Given the description of an element on the screen output the (x, y) to click on. 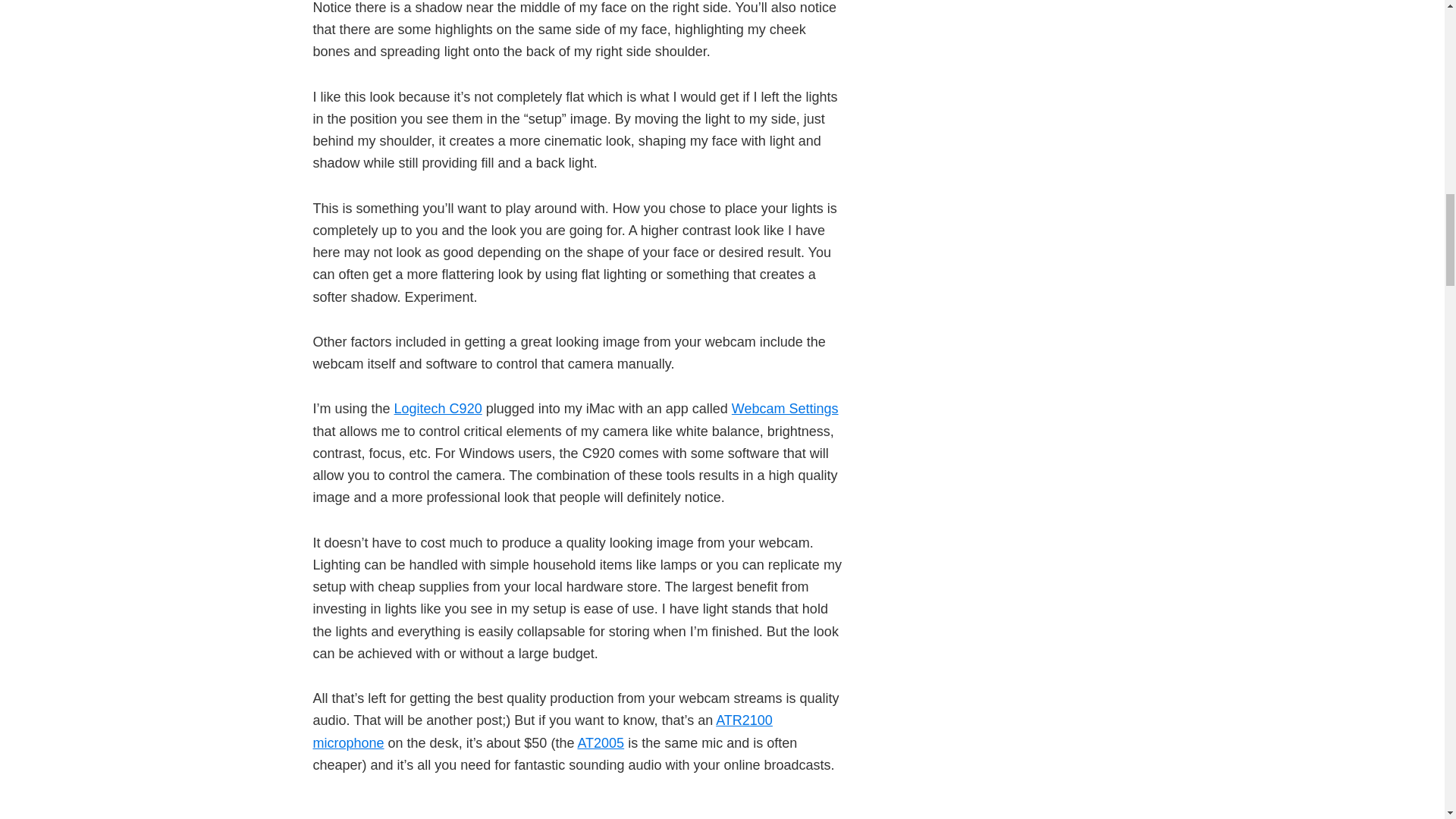
Webcam Settings (785, 408)
Logitech C920 (437, 408)
AT2005 (600, 743)
Logitech C920 (437, 408)
ATR2100 (542, 731)
Webcam Settings app for Mac (785, 408)
AT2005 (600, 743)
ATR2100 microphone (542, 731)
